Given the description of an element on the screen output the (x, y) to click on. 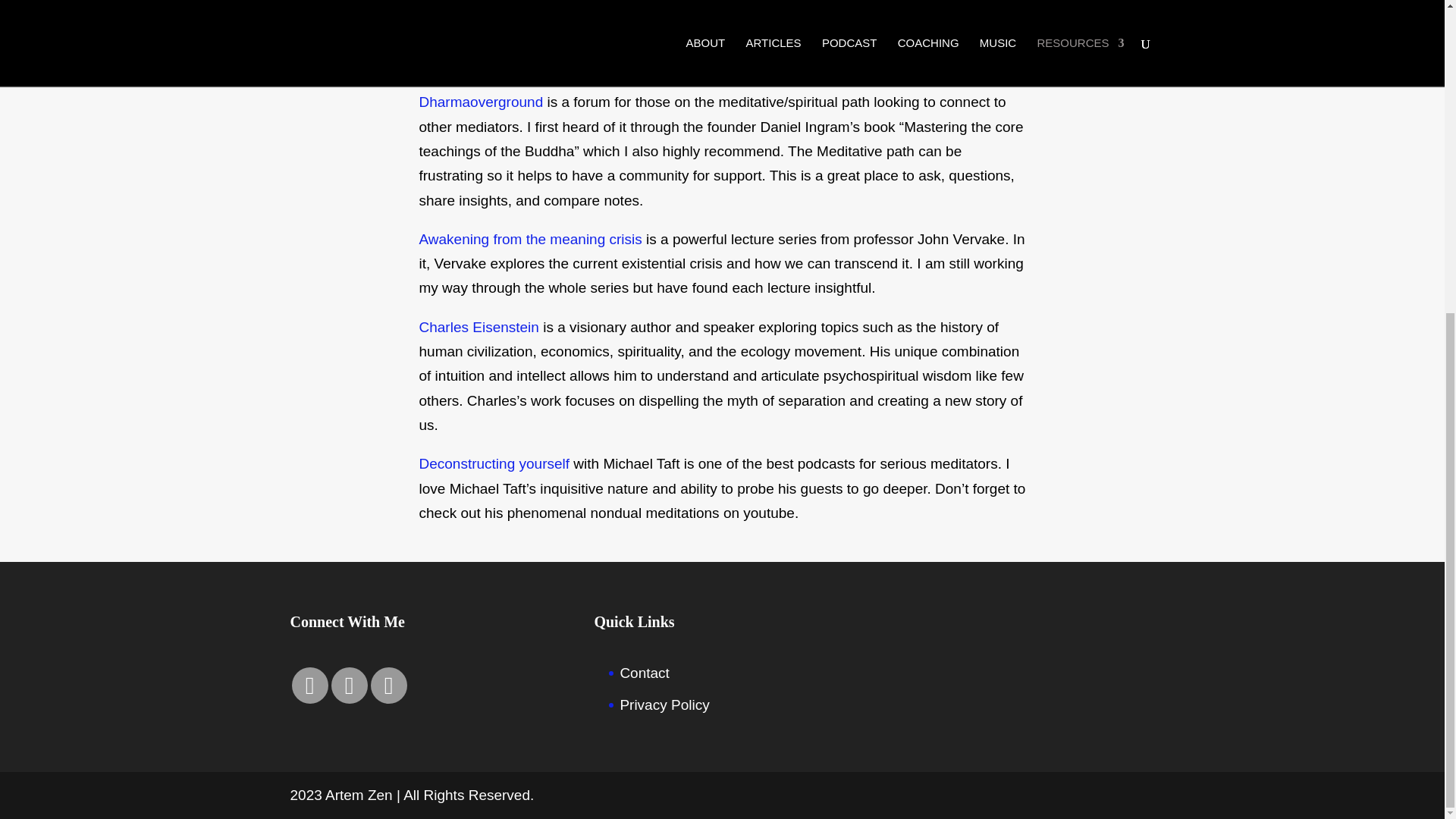
YouTube (387, 685)
Awakening from the meaning crisis (530, 238)
Dharmaoverground (481, 101)
Privacy Policy (664, 704)
Rebel Wisdom (467, 13)
Deconstructing yourself (494, 463)
Instagram (348, 685)
Facebook (309, 685)
Charles Eisenstein (478, 326)
Contact (644, 672)
